Given the description of an element on the screen output the (x, y) to click on. 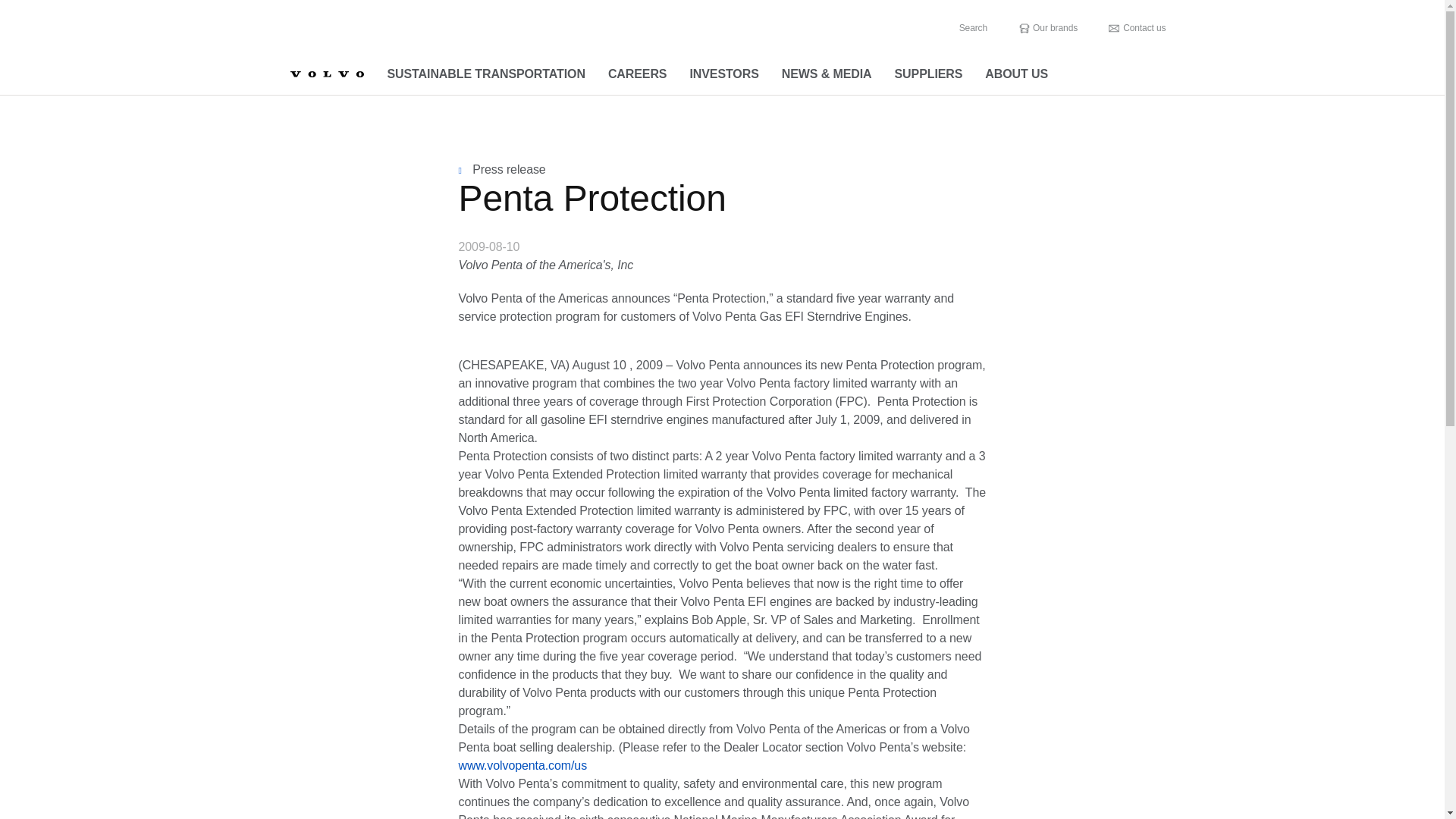
Careers (637, 74)
Sustainable Transportation (485, 74)
Our brands (1047, 28)
SUSTAINABLE TRANSPORTATION (485, 74)
INVESTORS (724, 74)
Investors (724, 74)
CAREERS (637, 74)
Contact us (1137, 28)
